Given the description of an element on the screen output the (x, y) to click on. 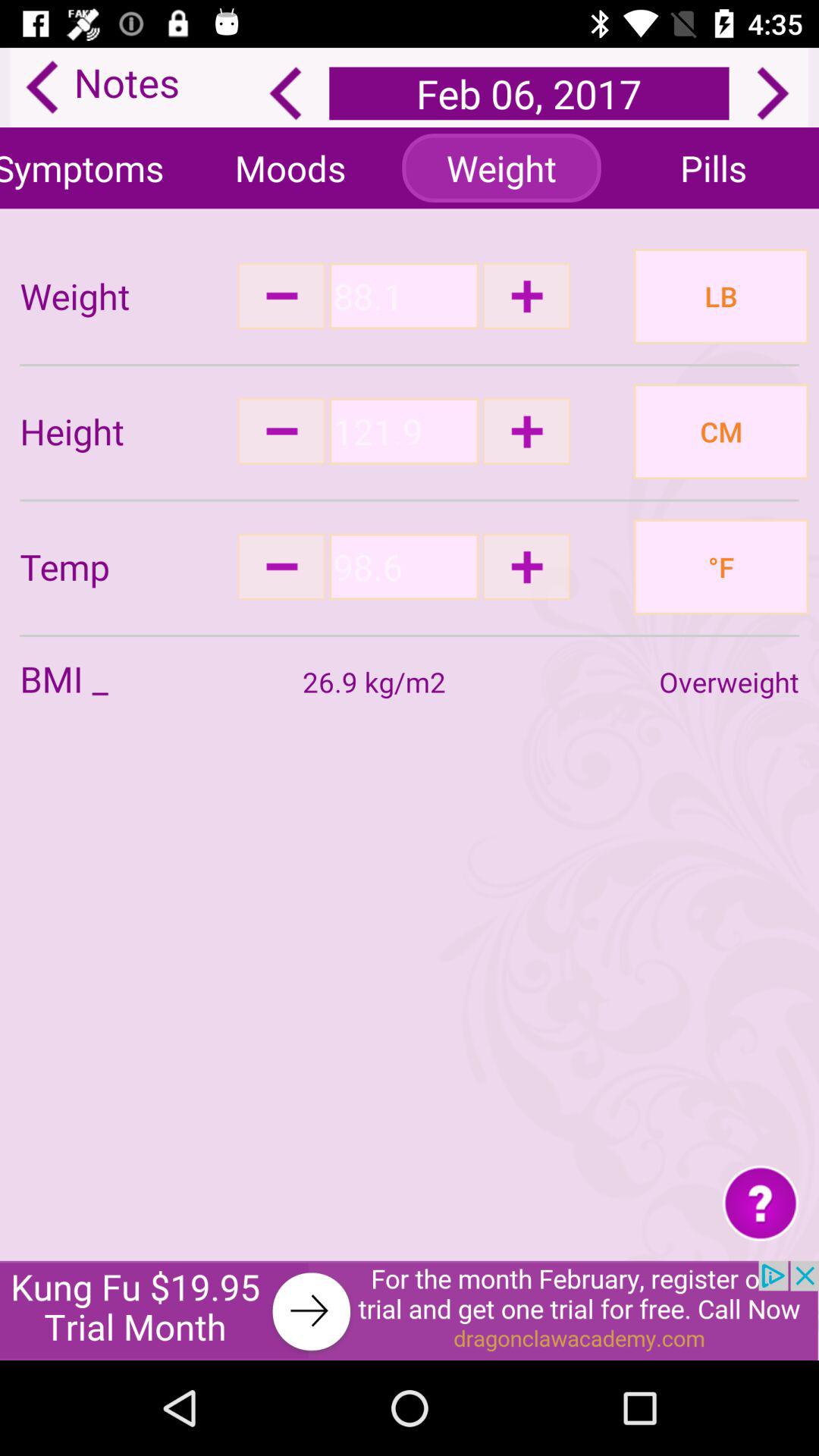
go to previous date (285, 93)
